Given the description of an element on the screen output the (x, y) to click on. 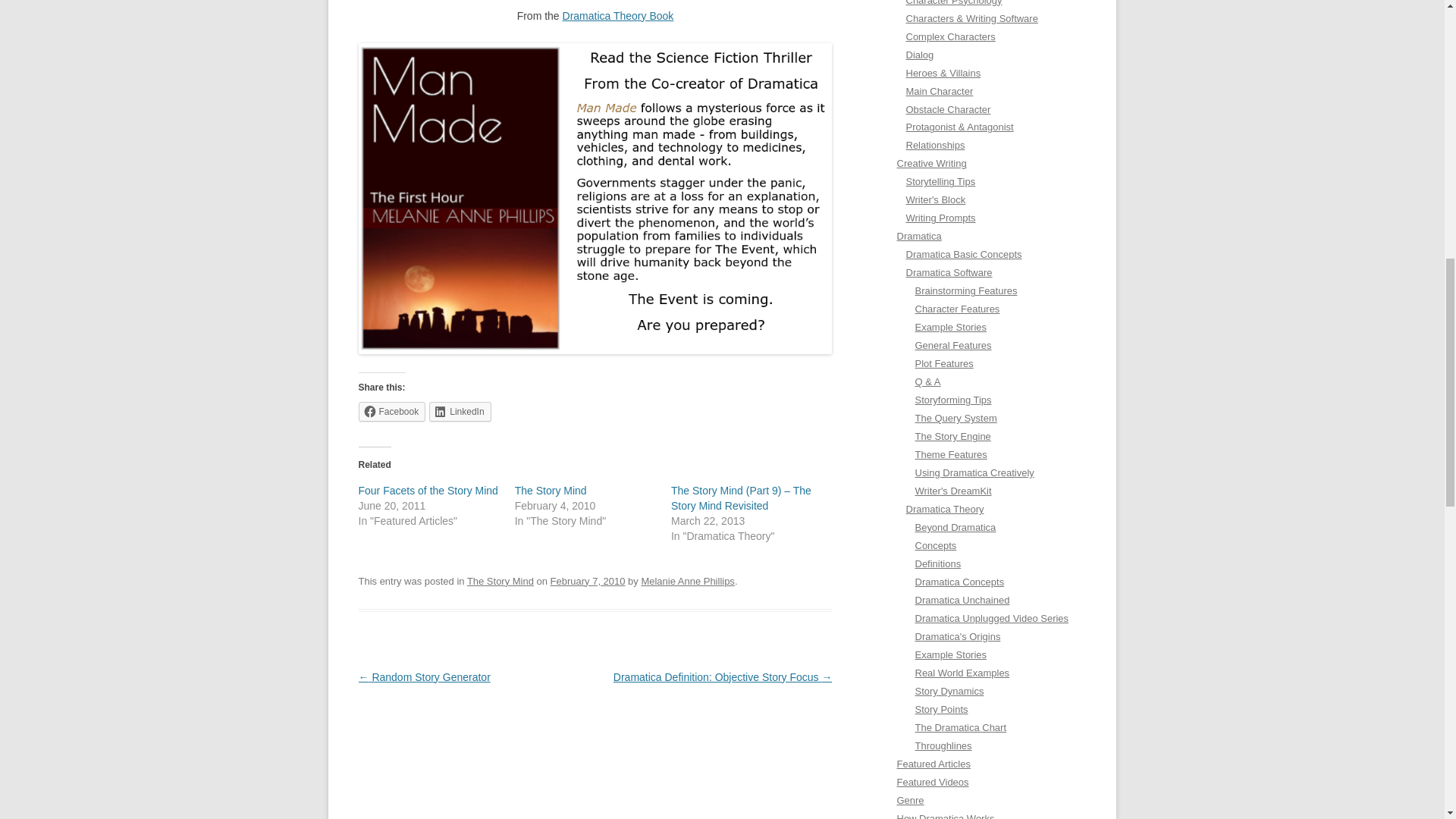
LinkedIn (459, 411)
The Story Mind (500, 581)
Four Facets of the Story Mind (427, 490)
View all posts by Melanie Anne Phillips (686, 581)
February 7, 2010 (588, 581)
3:22 pm (588, 581)
Melanie Anne Phillips (686, 581)
Facebook (391, 411)
The Story Mind (550, 490)
Dramatica Theory Book (618, 15)
Click to share on LinkedIn (459, 411)
Click to share on Facebook (391, 411)
Four Facets of the Story Mind (427, 490)
The Story Mind (550, 490)
